Given the description of an element on the screen output the (x, y) to click on. 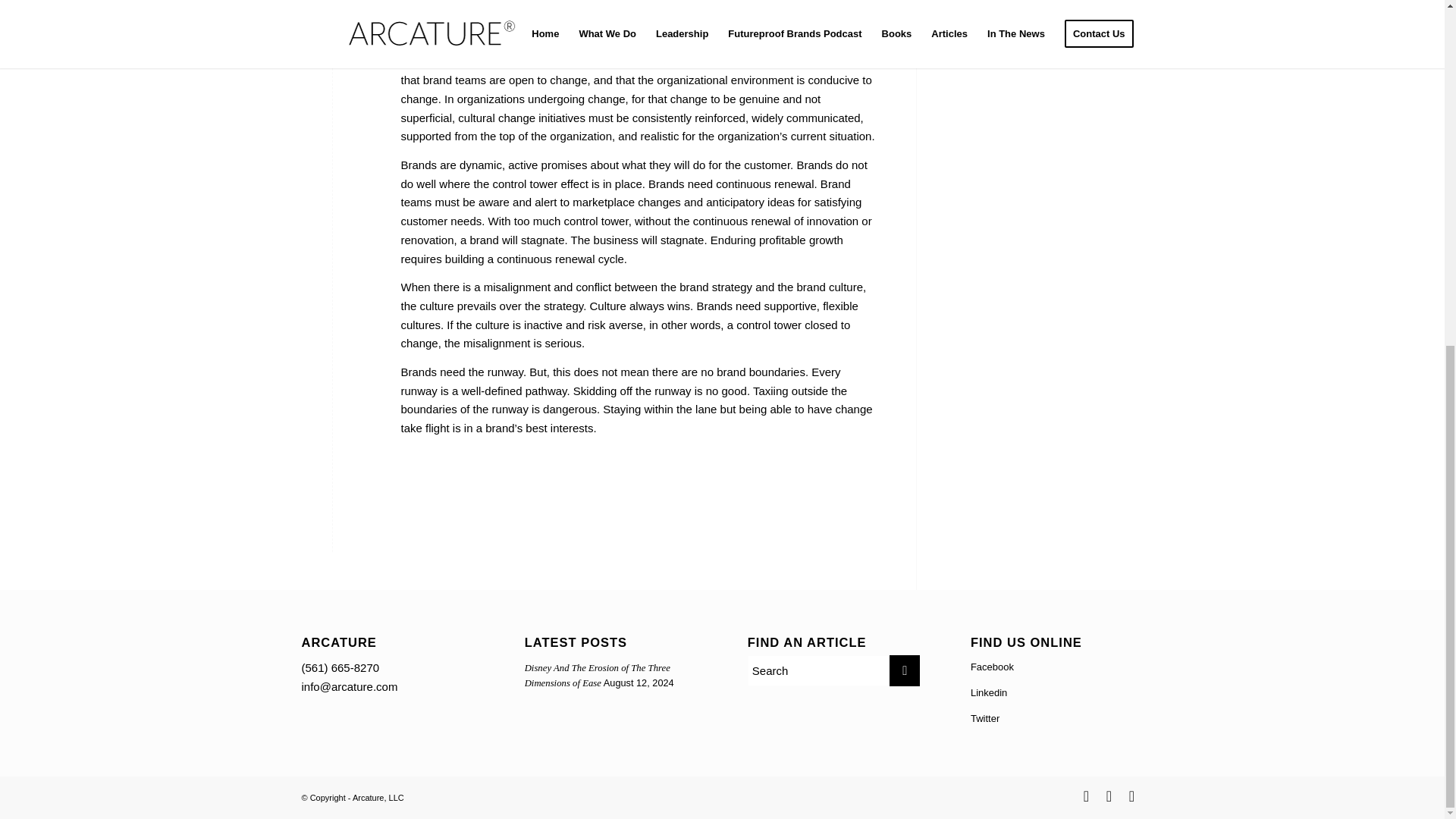
Linkedin (1048, 8)
Facebook (1056, 693)
Twitter (1086, 795)
The Domino Effect (1056, 719)
Facebook (1048, 8)
The Age of Harley-Davidson (1056, 667)
Disney And The Erosion of The Three Dimensions of Ease (1048, 41)
LinkedIn (596, 675)
